Given the description of an element on the screen output the (x, y) to click on. 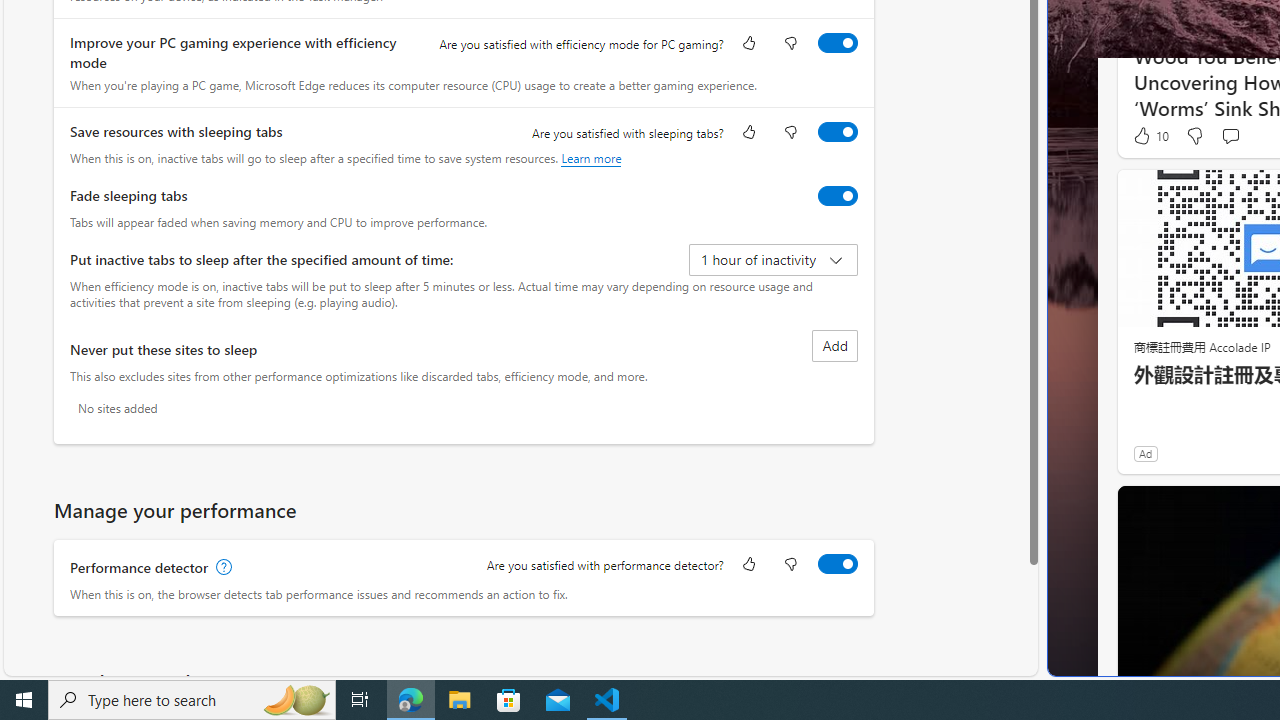
Fade sleeping tabs (837, 195)
Save resources with sleeping tabs (837, 131)
Add site to never put these sites to sleep list (834, 345)
Performance detector, learn more (221, 567)
10 Like (1149, 135)
Performance detector (837, 563)
Improve your PC gaming experience with efficiency mode (837, 43)
Learn more (591, 158)
